Given the description of an element on the screen output the (x, y) to click on. 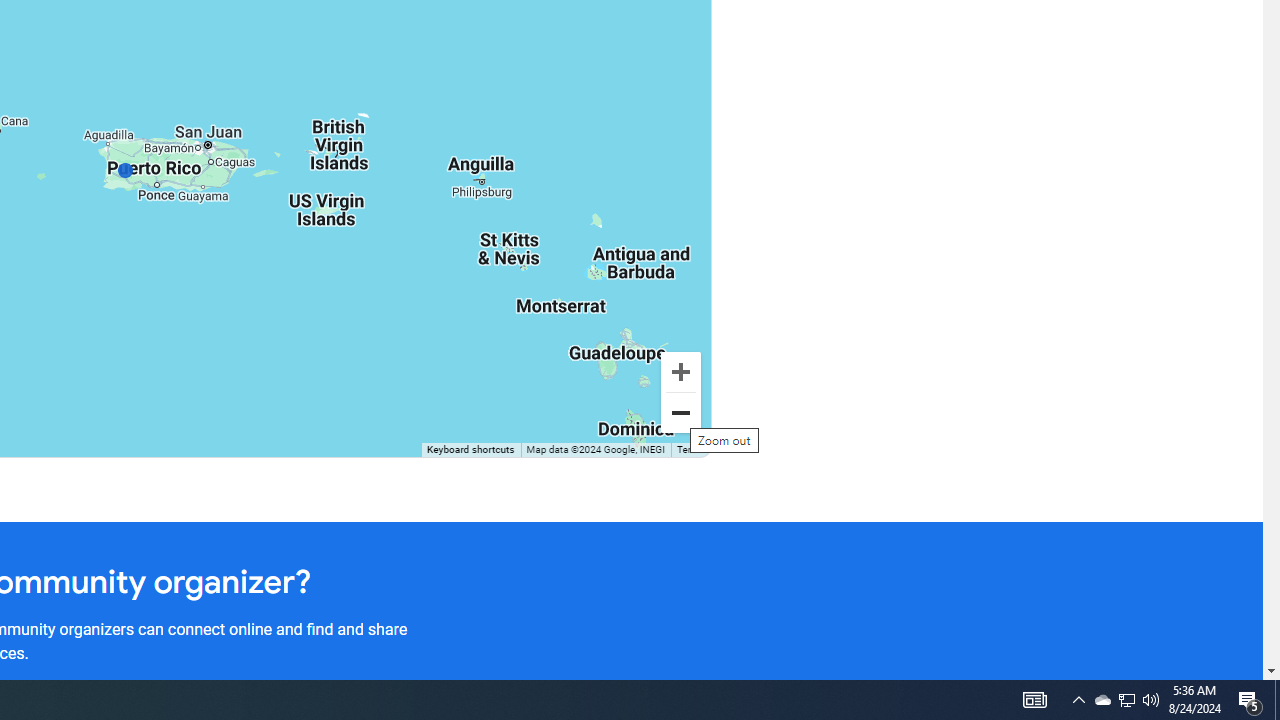
Terms (690, 449)
Zoom out (680, 412)
Keyboard shortcuts (470, 449)
Zoom in (680, 371)
